Given the description of an element on the screen output the (x, y) to click on. 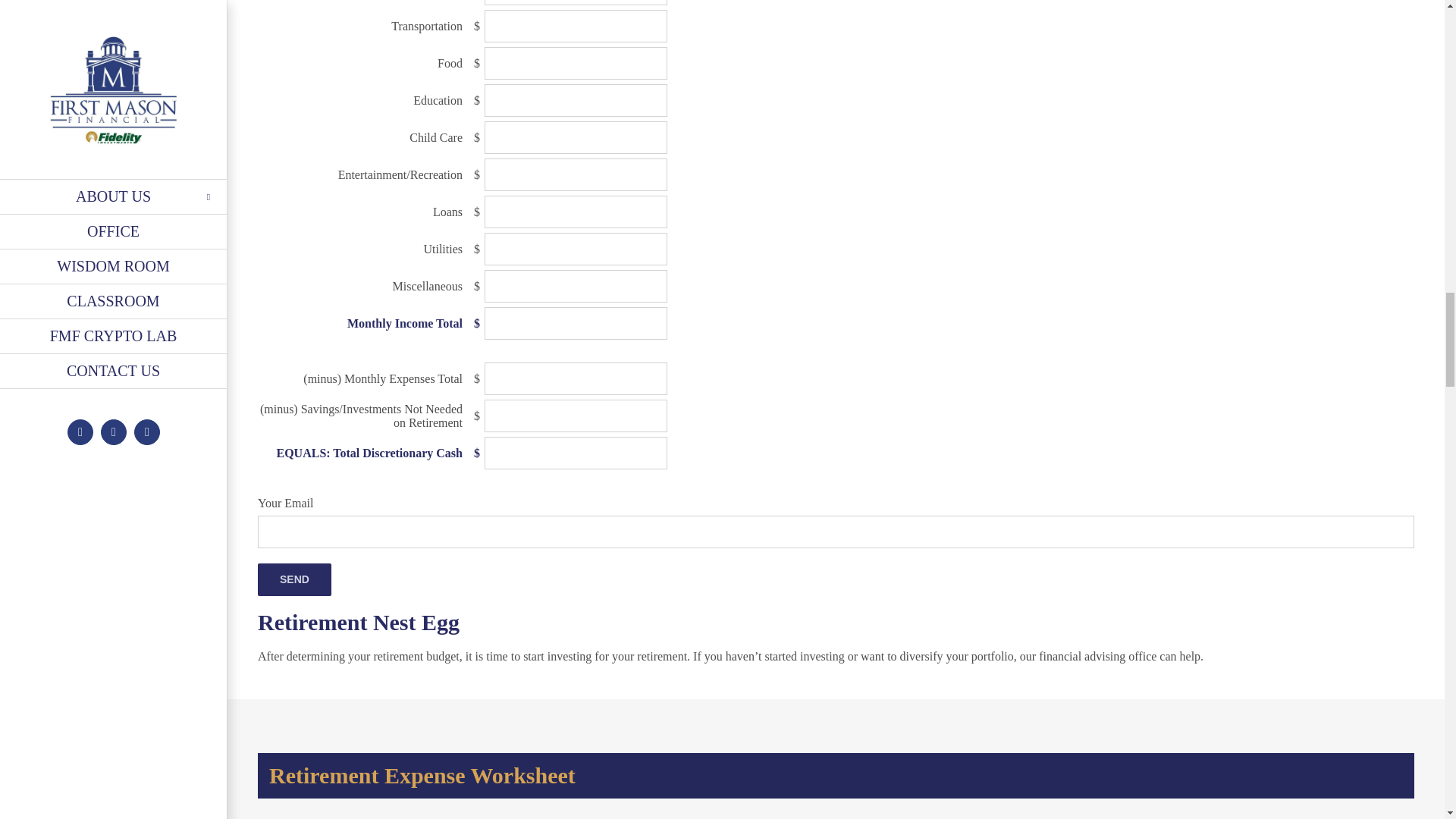
Send (294, 579)
